Given the description of an element on the screen output the (x, y) to click on. 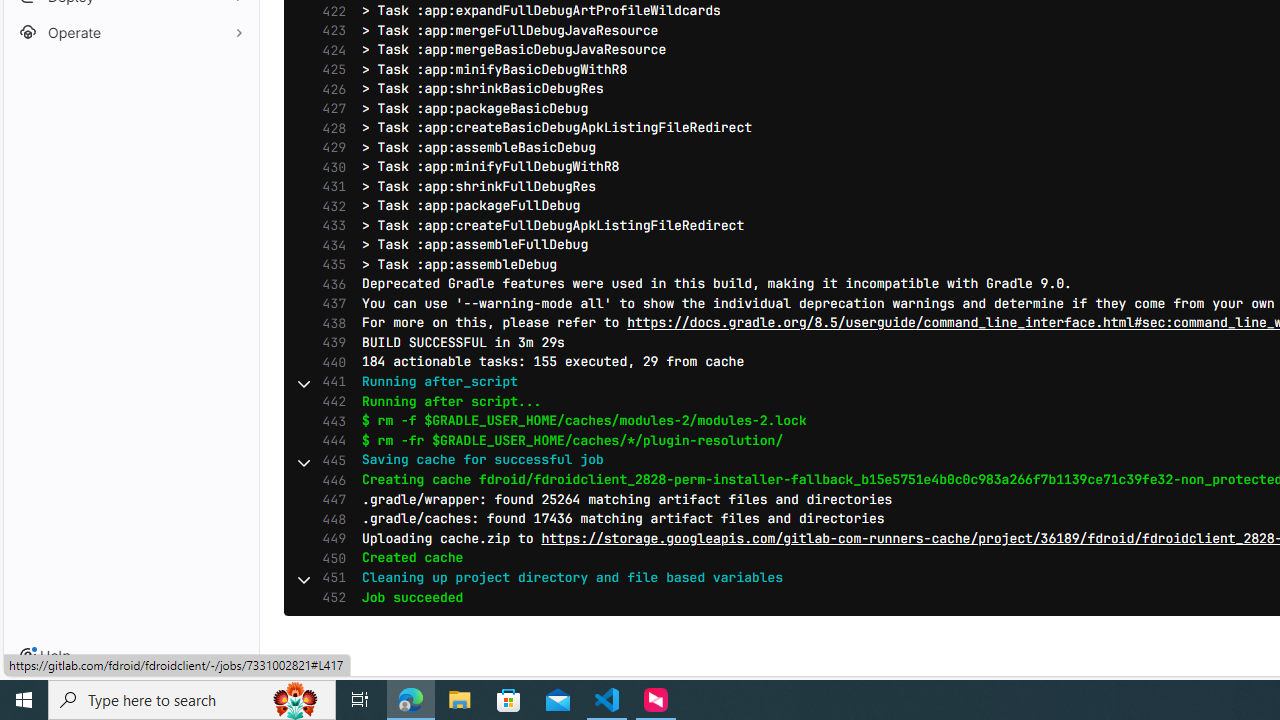
427 (329, 108)
426 (329, 89)
452 (329, 597)
432 (329, 205)
